Given the description of an element on the screen output the (x, y) to click on. 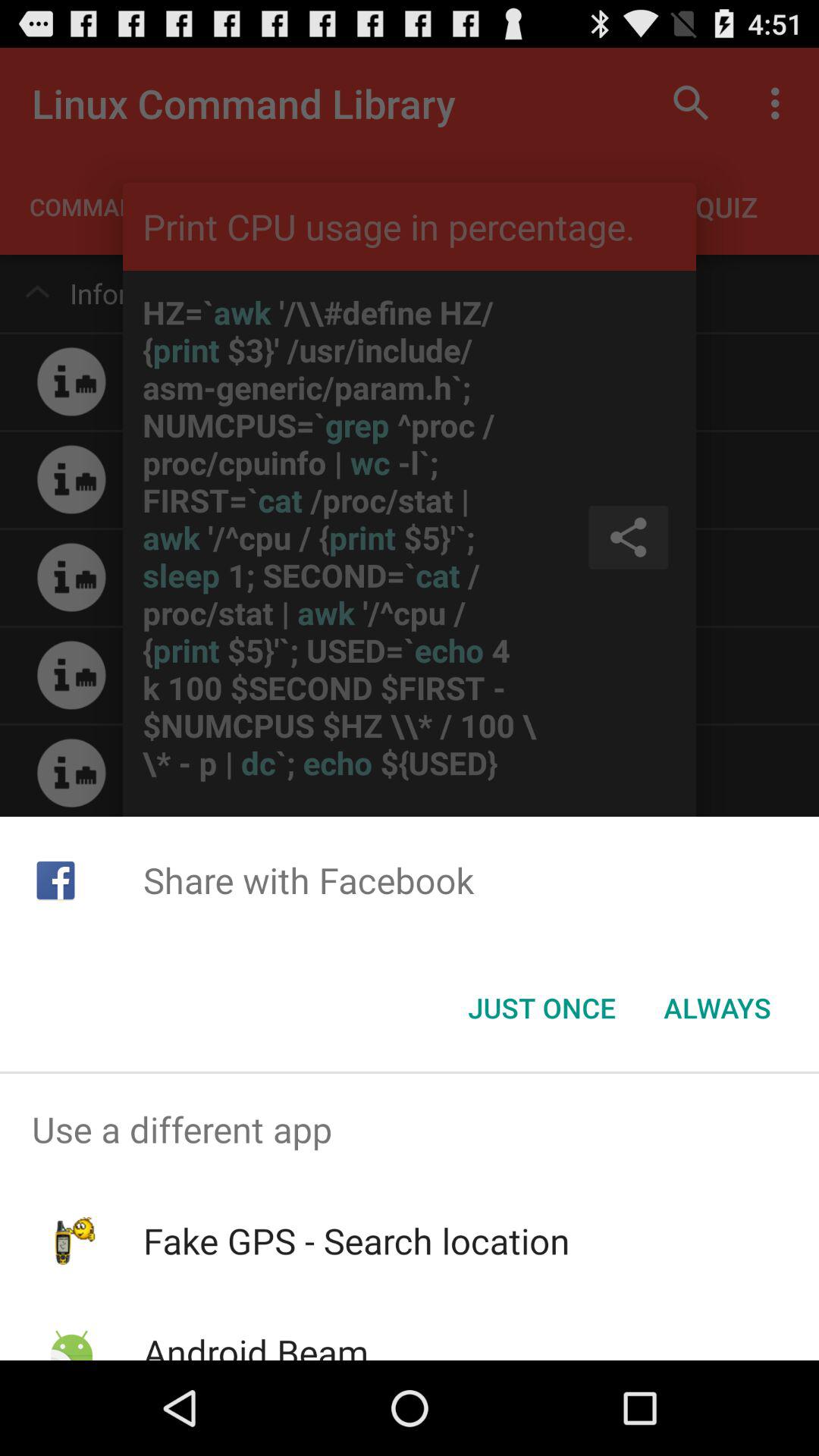
choose the always icon (717, 1007)
